Given the description of an element on the screen output the (x, y) to click on. 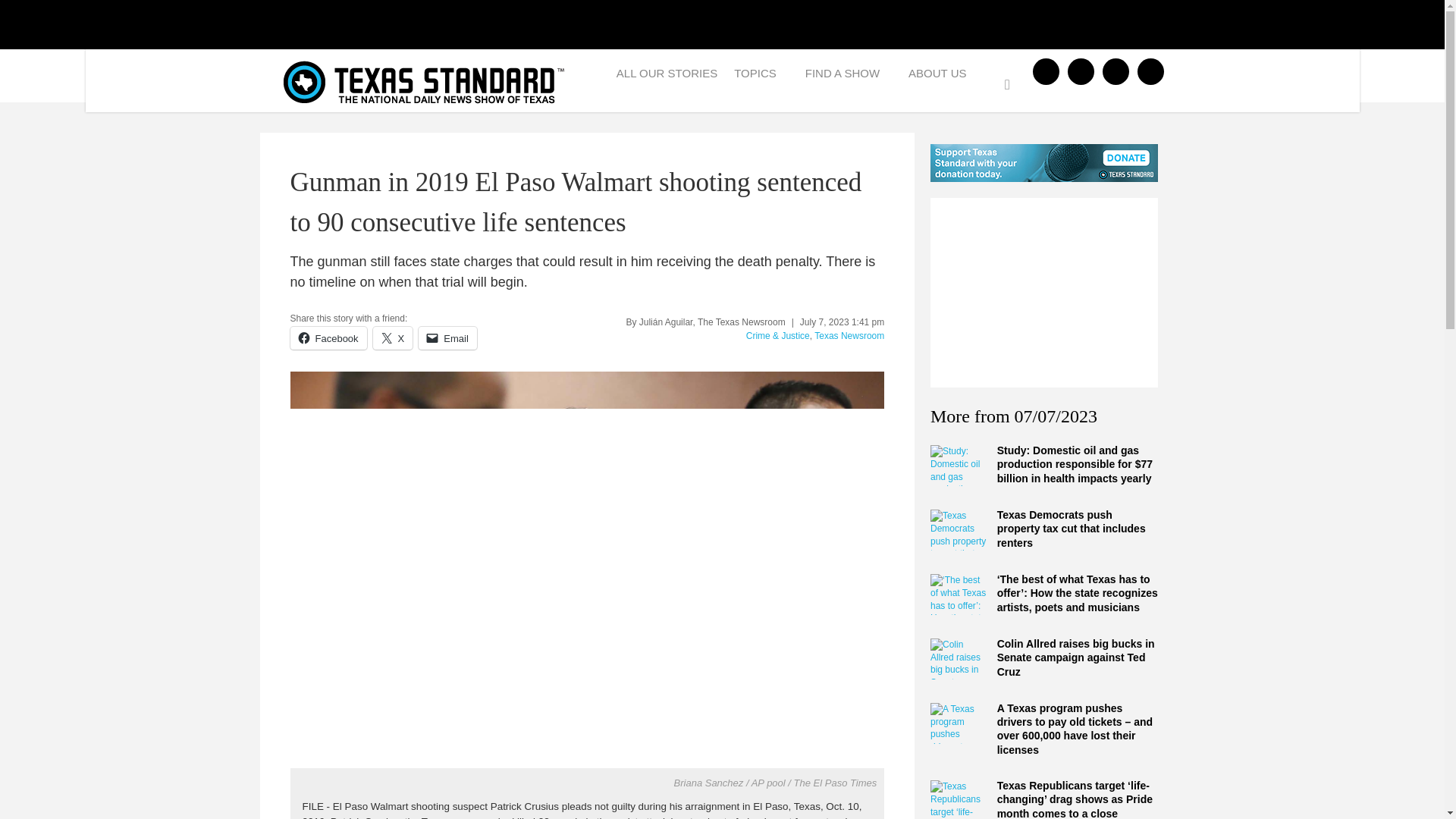
Click to share on X (392, 337)
TOPICS (761, 77)
Click to share on Facebook (327, 337)
ALL OUR STORIES (666, 77)
Click to email a link to a friend (448, 337)
